Given the description of an element on the screen output the (x, y) to click on. 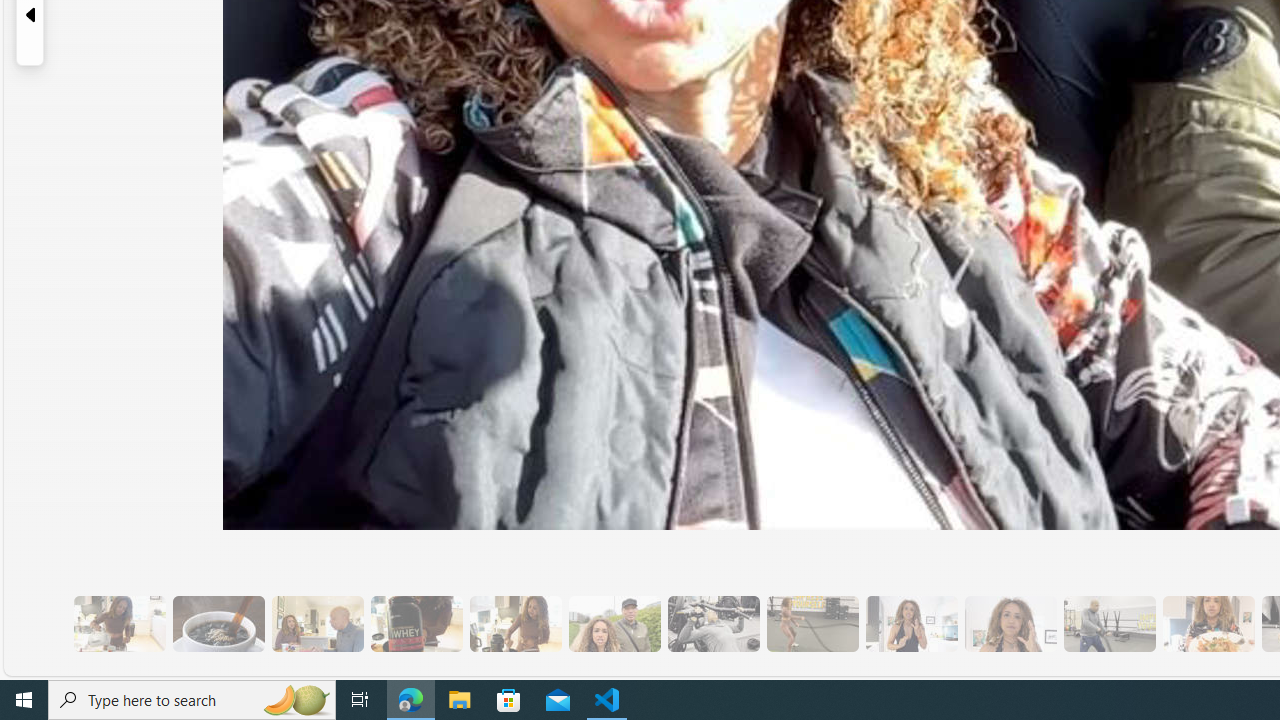
10 Then, They Do HIIT Cardio (811, 624)
10 Then, They Do HIIT Cardio (811, 624)
8 Be Mindful of Coffee (217, 624)
See more (1086, 660)
7 They Don't Skip Meals (514, 624)
14 They Have Salmon and Veggies for Dinner (1208, 624)
11 They Eat More Protein for Breakfast (911, 624)
8 They Walk to the Gym (614, 624)
7 They Don't Skip Meals (514, 624)
5 She Eats Less Than Her Husband (317, 624)
